Given the description of an element on the screen output the (x, y) to click on. 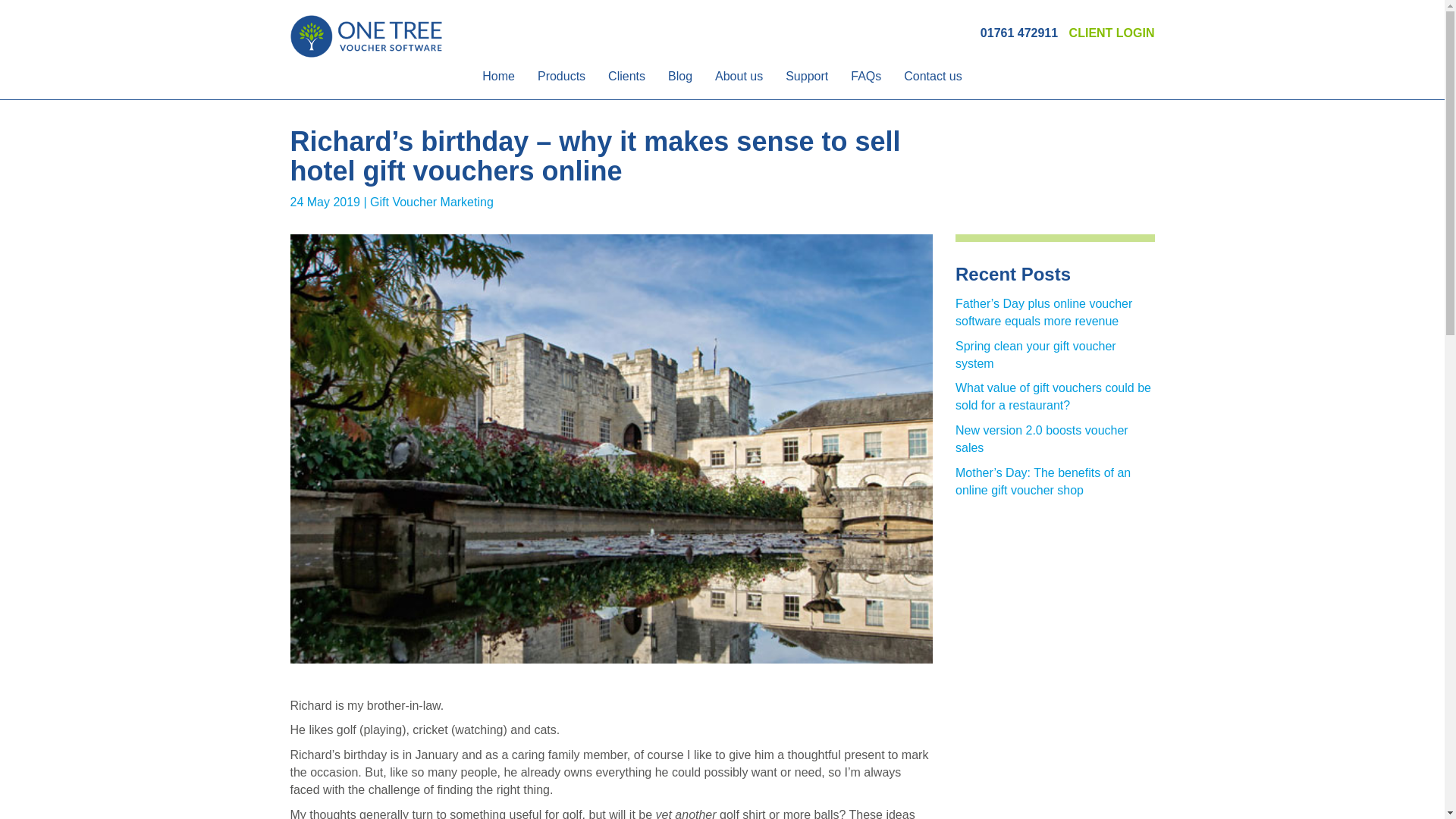
New version 2.0 boosts voucher sales (1041, 439)
What value of gift vouchers could be sold for a restaurant? (1053, 396)
About us (738, 82)
Spring clean your gift voucher system (1035, 354)
Contact us (932, 82)
Blog (679, 82)
01761 472911 (1018, 32)
Home (497, 82)
CLIENT LOGIN (1111, 32)
Support (807, 82)
